Given the description of an element on the screen output the (x, y) to click on. 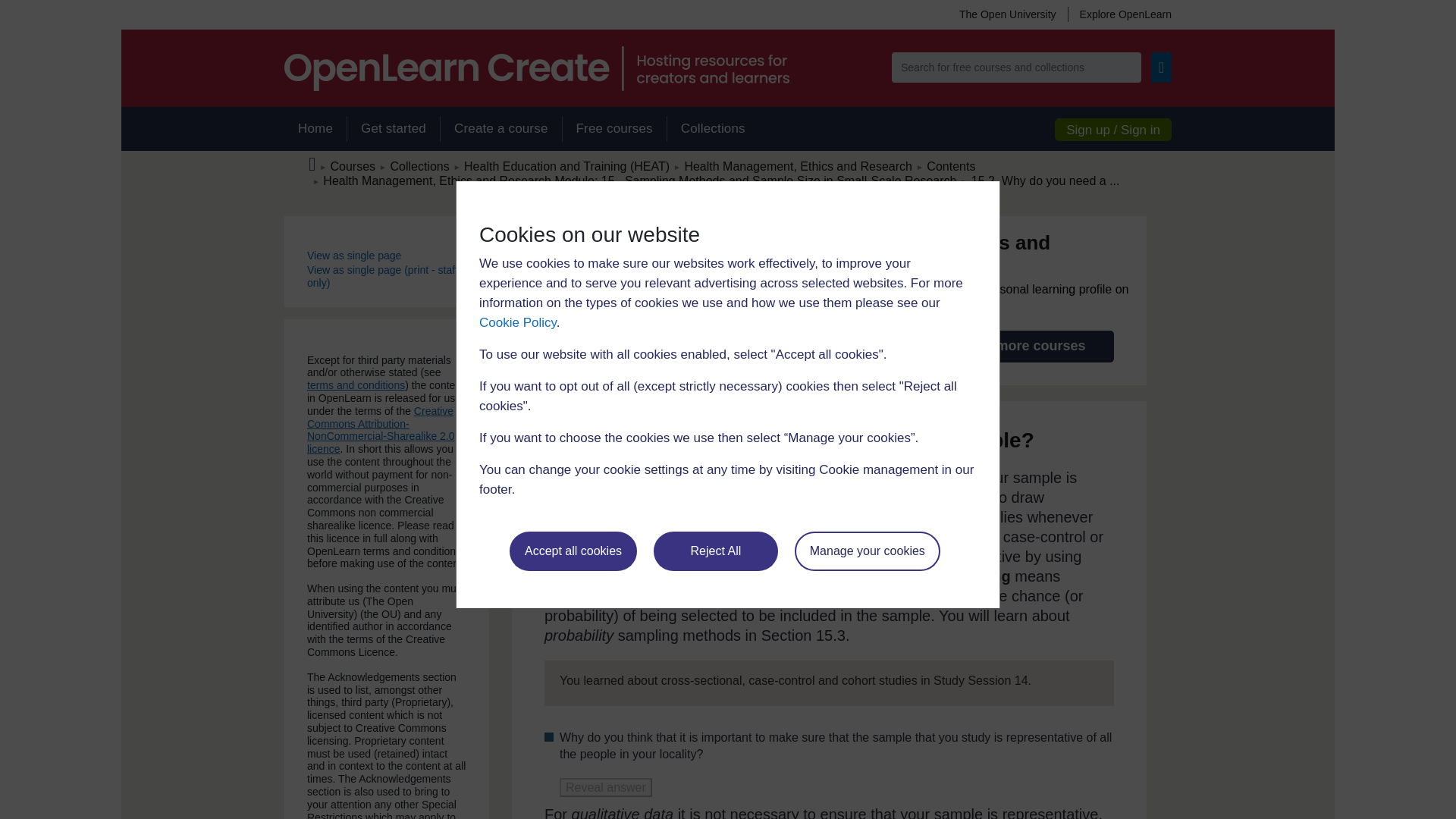
Manage your cookies (867, 550)
Collections (712, 128)
Accept all cookies (573, 550)
Create a course (500, 128)
Free courses (614, 128)
Reject All (715, 550)
Get started (392, 128)
Explore OpenLearn (1119, 14)
The Open University (1007, 14)
SC Web Editor (639, 180)
Cookie Policy (517, 322)
OpenLearn Create (536, 67)
The Open University (1007, 14)
Explore OpenLearn (1119, 14)
Home (314, 128)
